Given the description of an element on the screen output the (x, y) to click on. 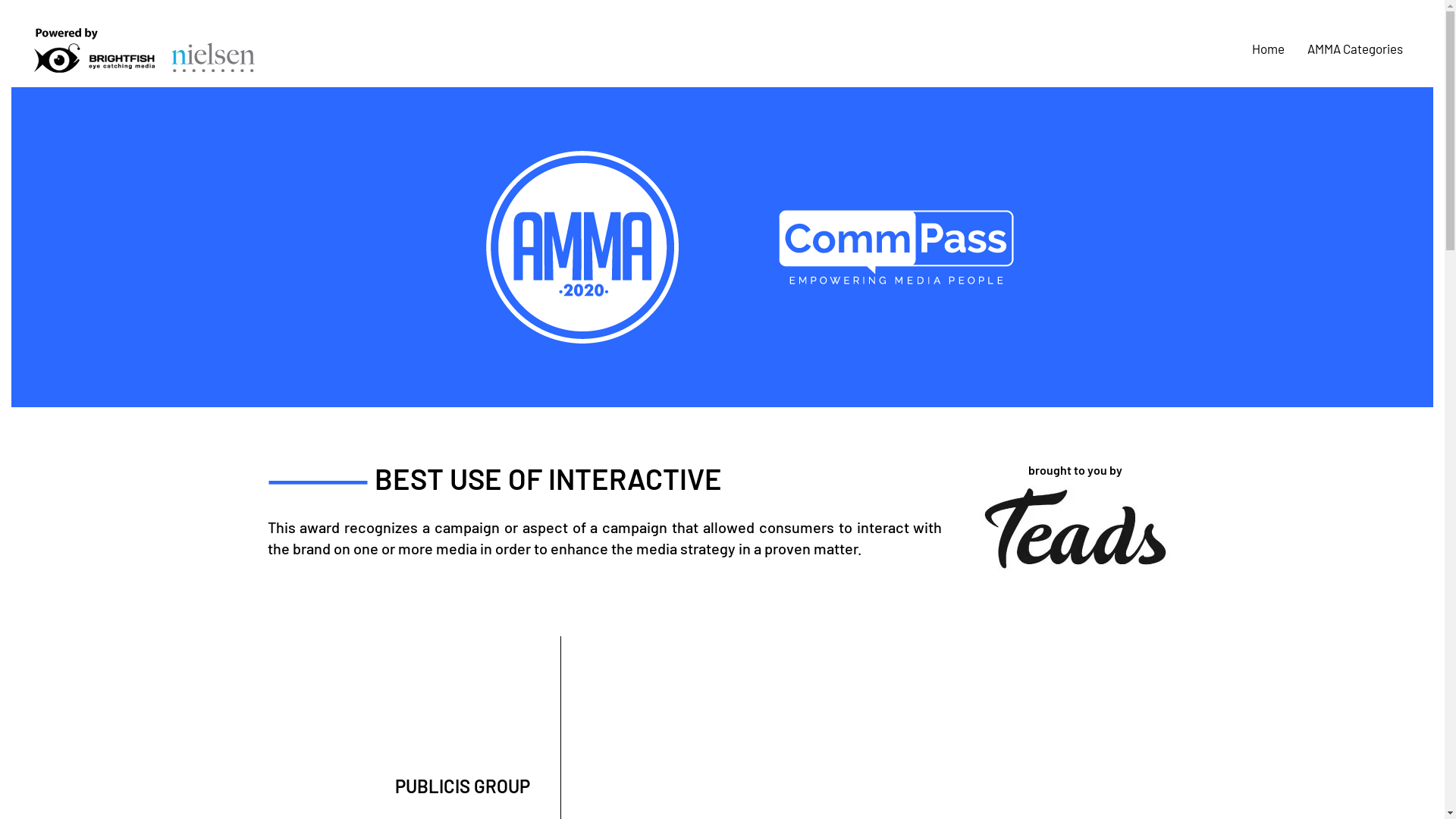
Home Element type: text (1267, 49)
AMMA Categories Element type: text (1354, 49)
